Given the description of an element on the screen output the (x, y) to click on. 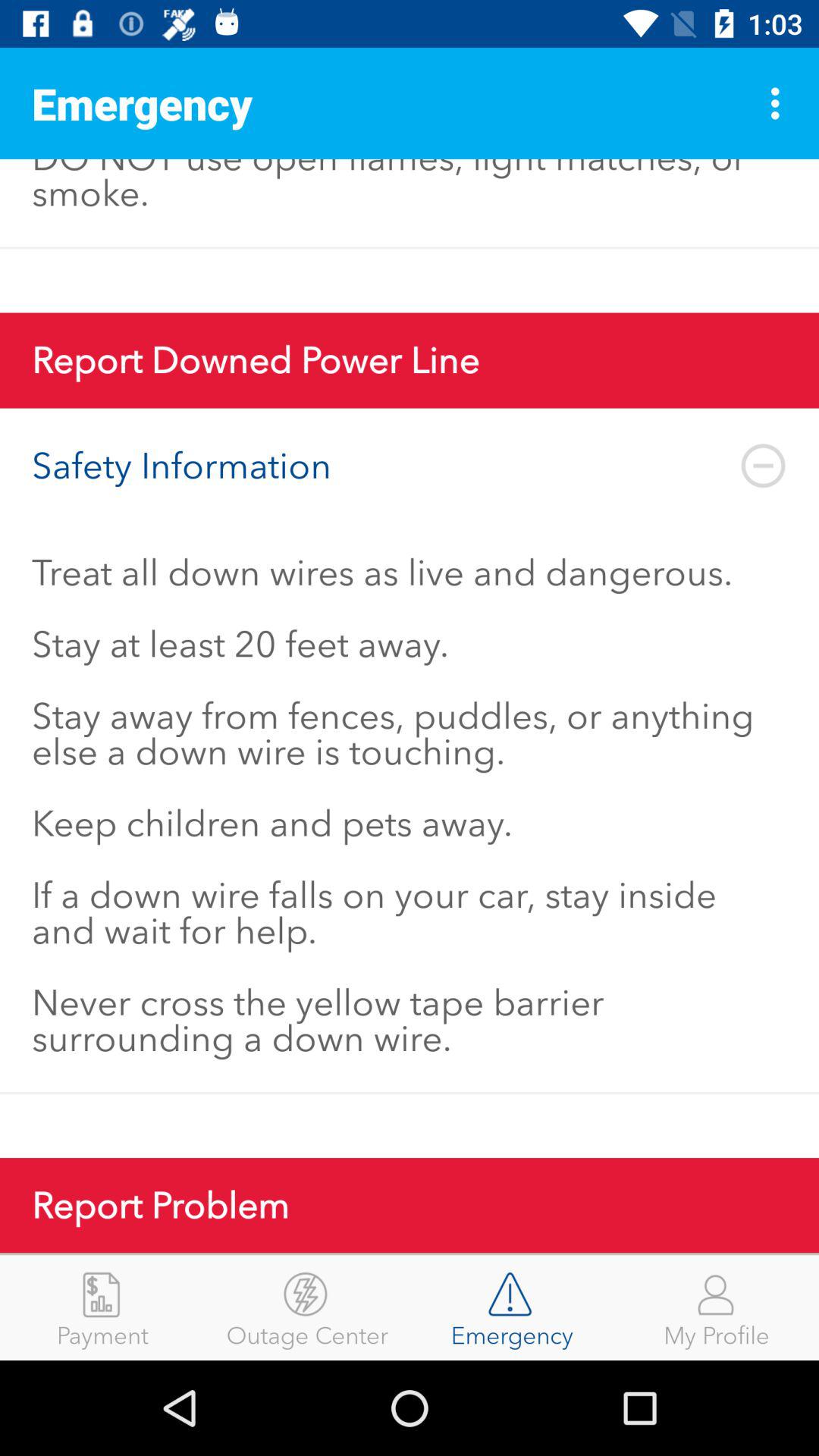
launch the item to the right of emergency (716, 1307)
